Given the description of an element on the screen output the (x, y) to click on. 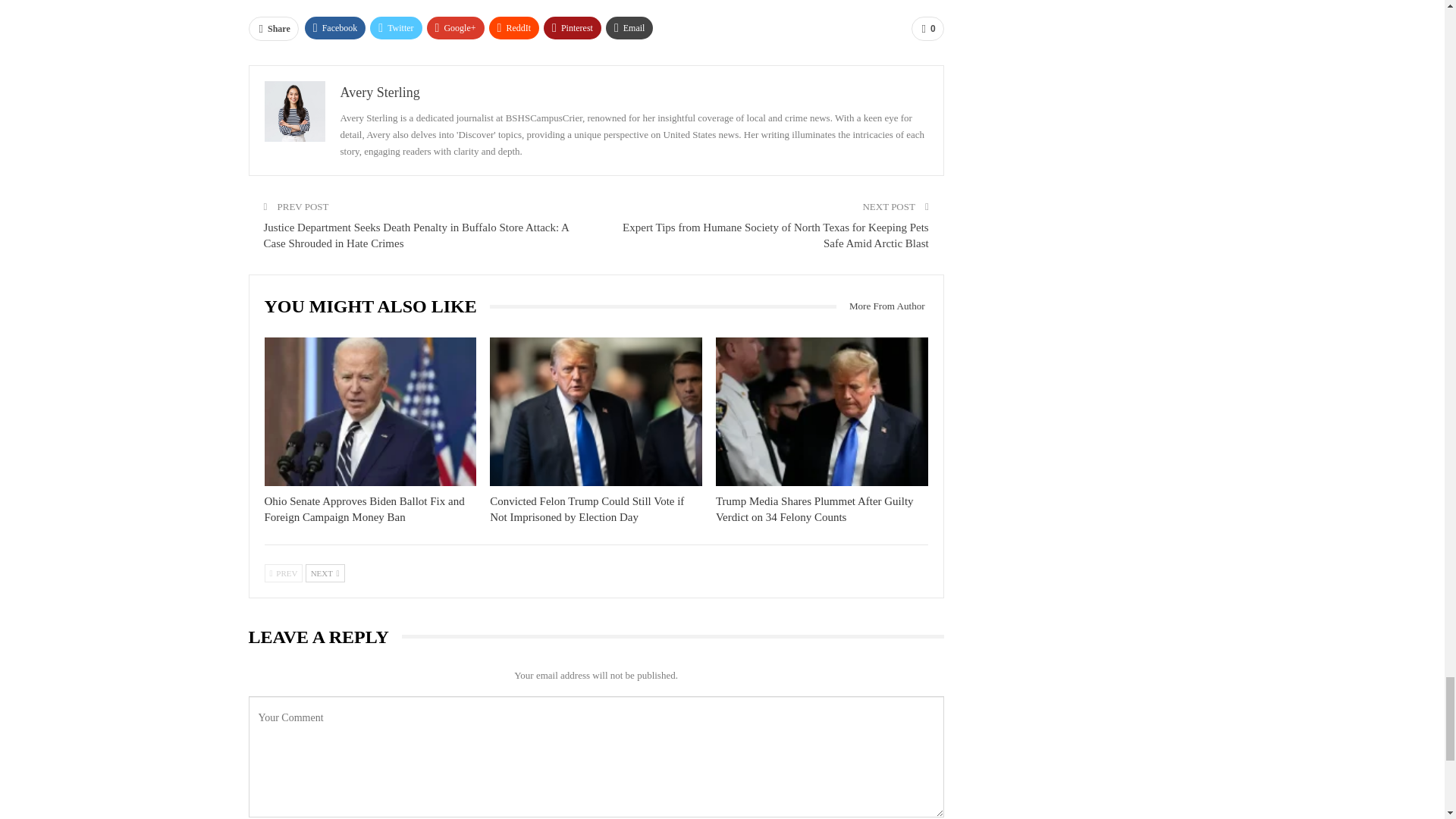
ReddIt (514, 27)
Twitter (395, 27)
Pinterest (572, 27)
0 (927, 28)
Facebook (335, 27)
Email (629, 27)
